Given the description of an element on the screen output the (x, y) to click on. 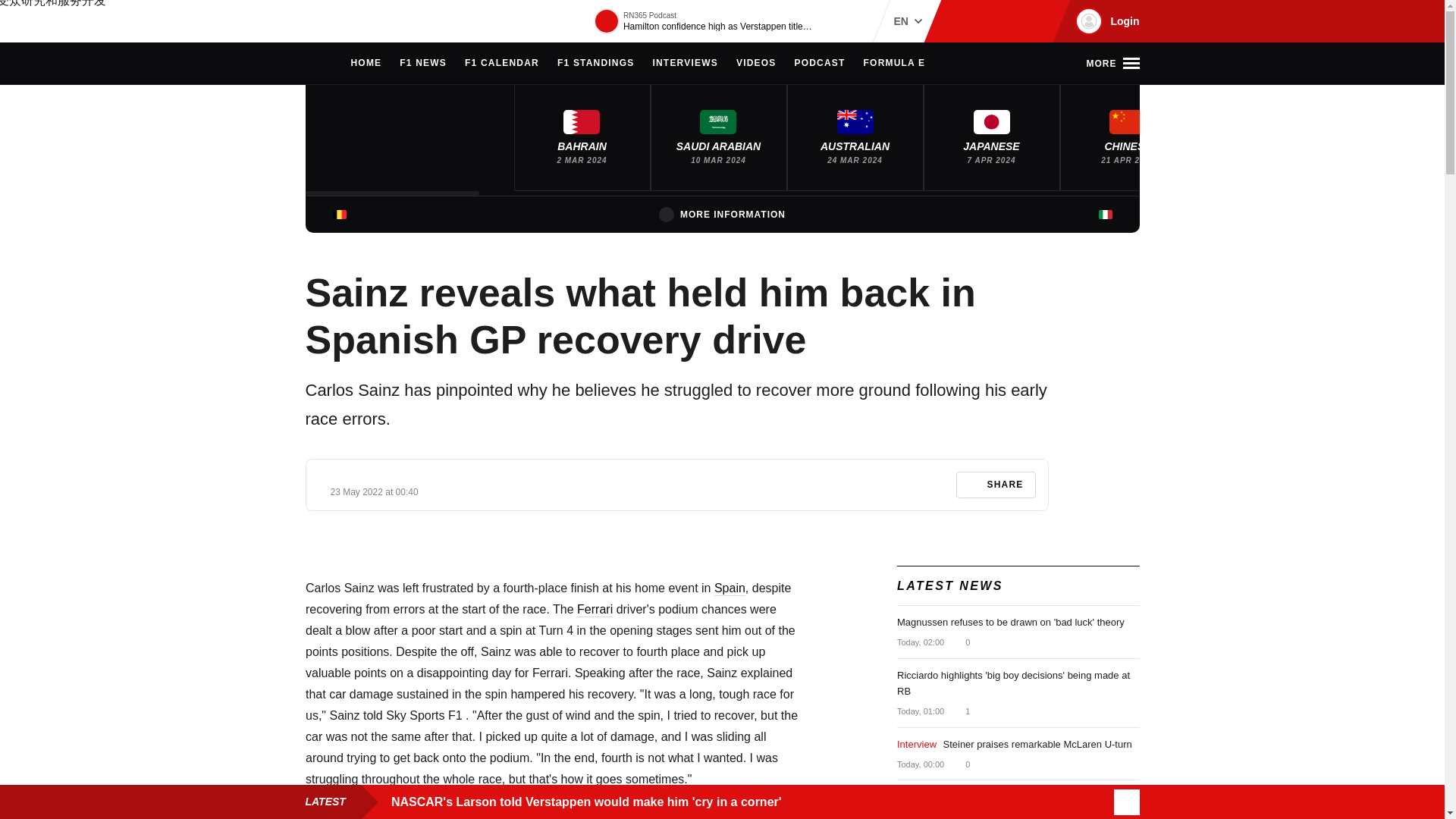
INTERVIEWS (684, 63)
RacingNews365 on Instagram (962, 21)
F1 NEWS (422, 63)
RacingNews365 (350, 21)
RacingNews365 on YouTube (1034, 21)
PODCAST (818, 63)
F1 STANDINGS (595, 63)
FORMULA E (894, 63)
Monday 23 May 2022 at 00:40 (374, 491)
RacingNews365 on Facebook (986, 21)
